Given the description of an element on the screen output the (x, y) to click on. 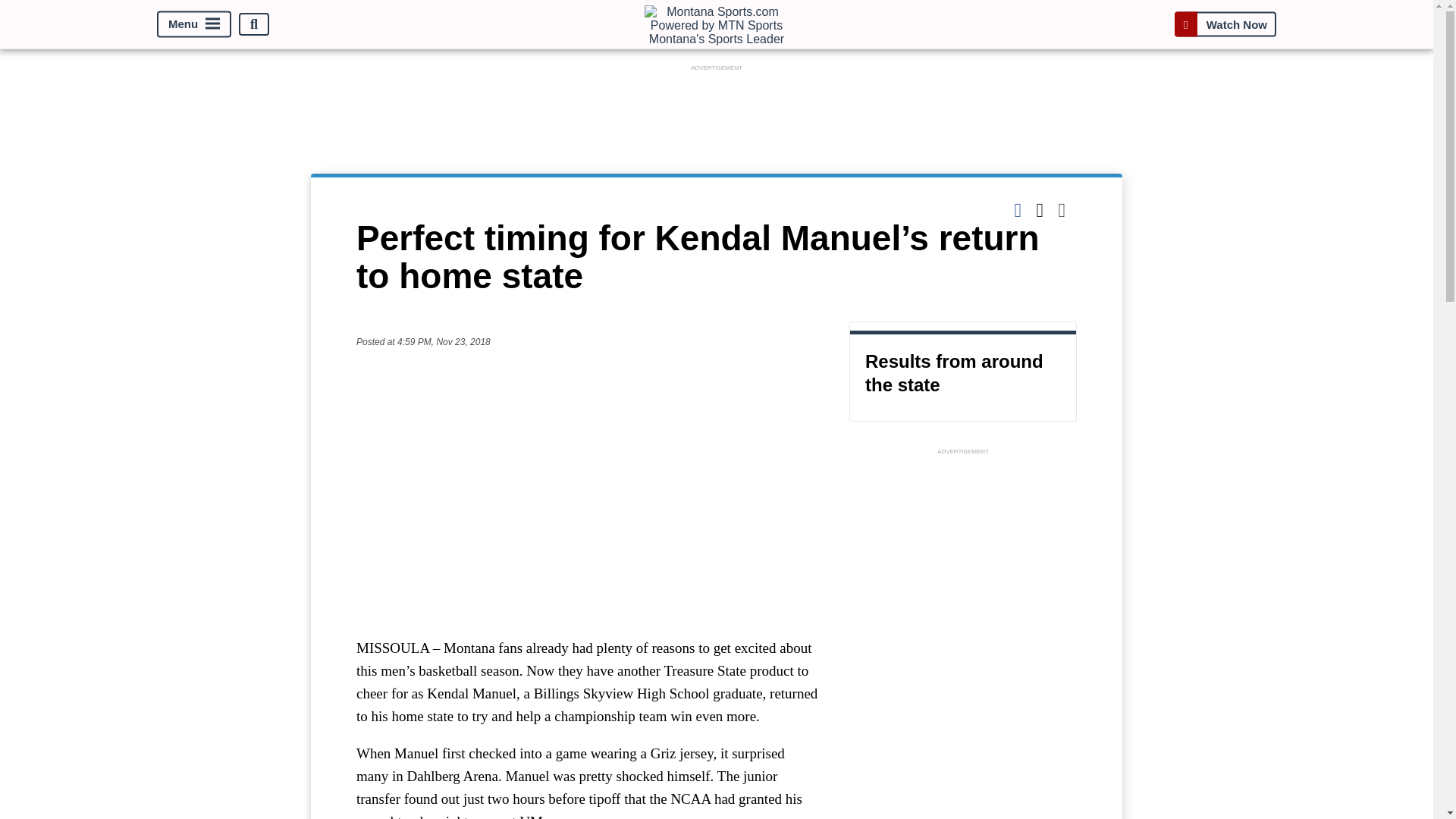
3rd party ad content (962, 553)
Watch Now (1224, 24)
Menu (194, 23)
3rd party ad content (715, 109)
YouTube player (587, 492)
